Given the description of an element on the screen output the (x, y) to click on. 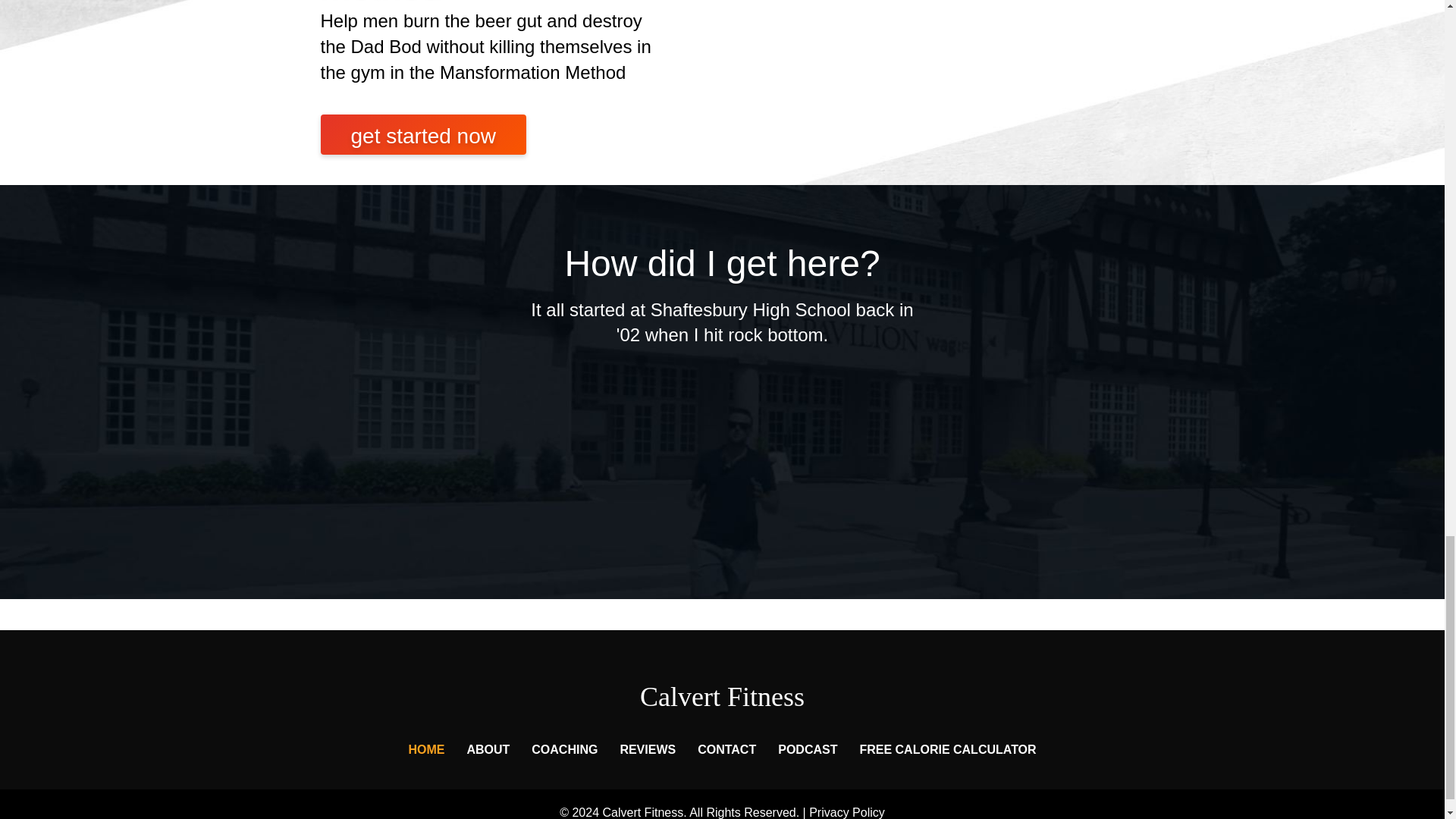
CONTACT (727, 749)
REVIEWS (646, 749)
play (721, 419)
ABOUT (487, 749)
Calvert Fitness (722, 696)
HOME (425, 749)
FREE CALORIE CALCULATOR (947, 749)
Privacy Policy (847, 812)
COACHING (564, 749)
get started now (422, 134)
Calvert Fitness (722, 696)
PODCAST (807, 749)
